Given the description of an element on the screen output the (x, y) to click on. 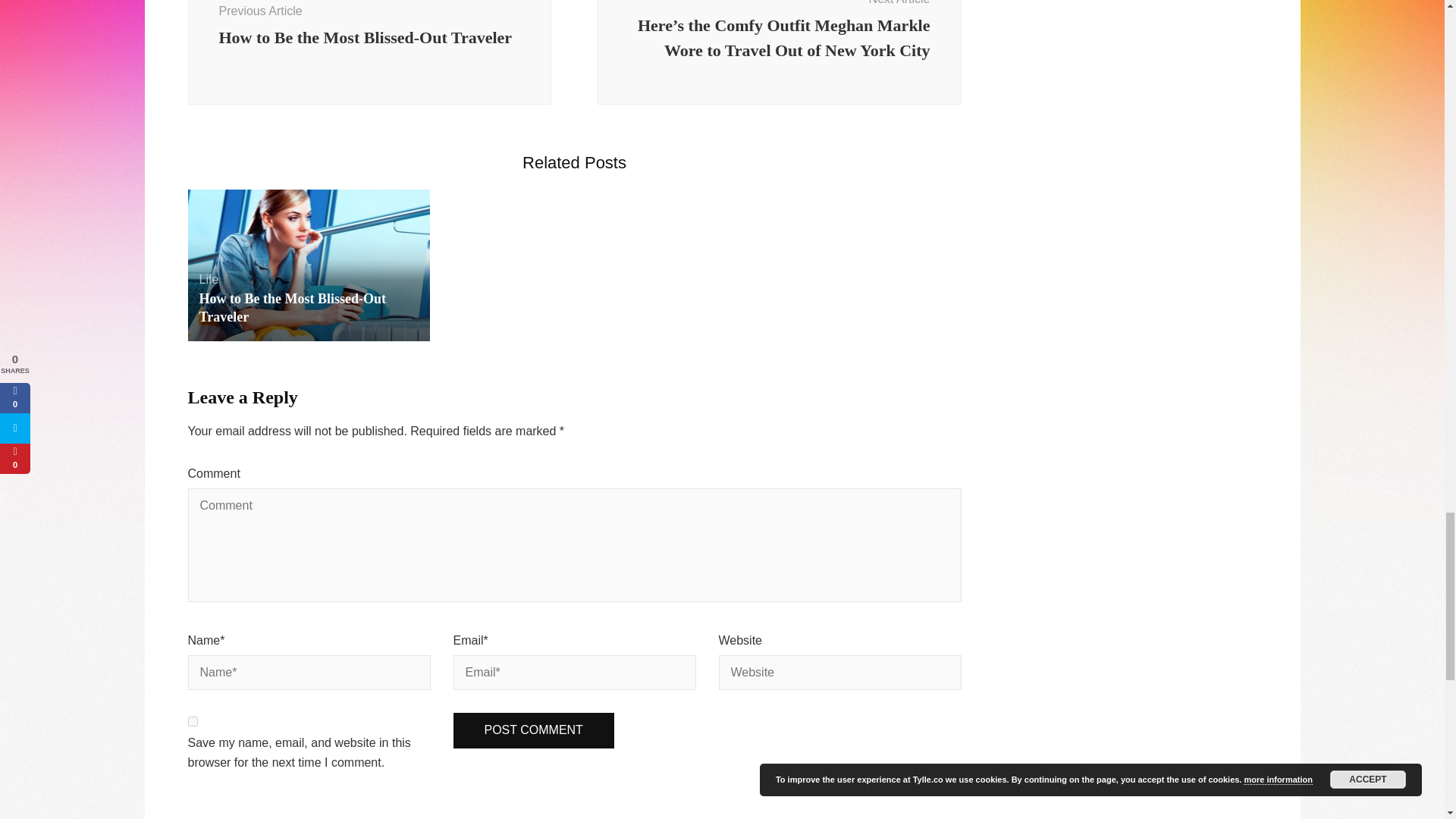
How to Be the Most Blissed-Out Traveler (291, 307)
Post Comment (533, 730)
Life (208, 278)
Post Comment (533, 730)
yes (369, 52)
